Given the description of an element on the screen output the (x, y) to click on. 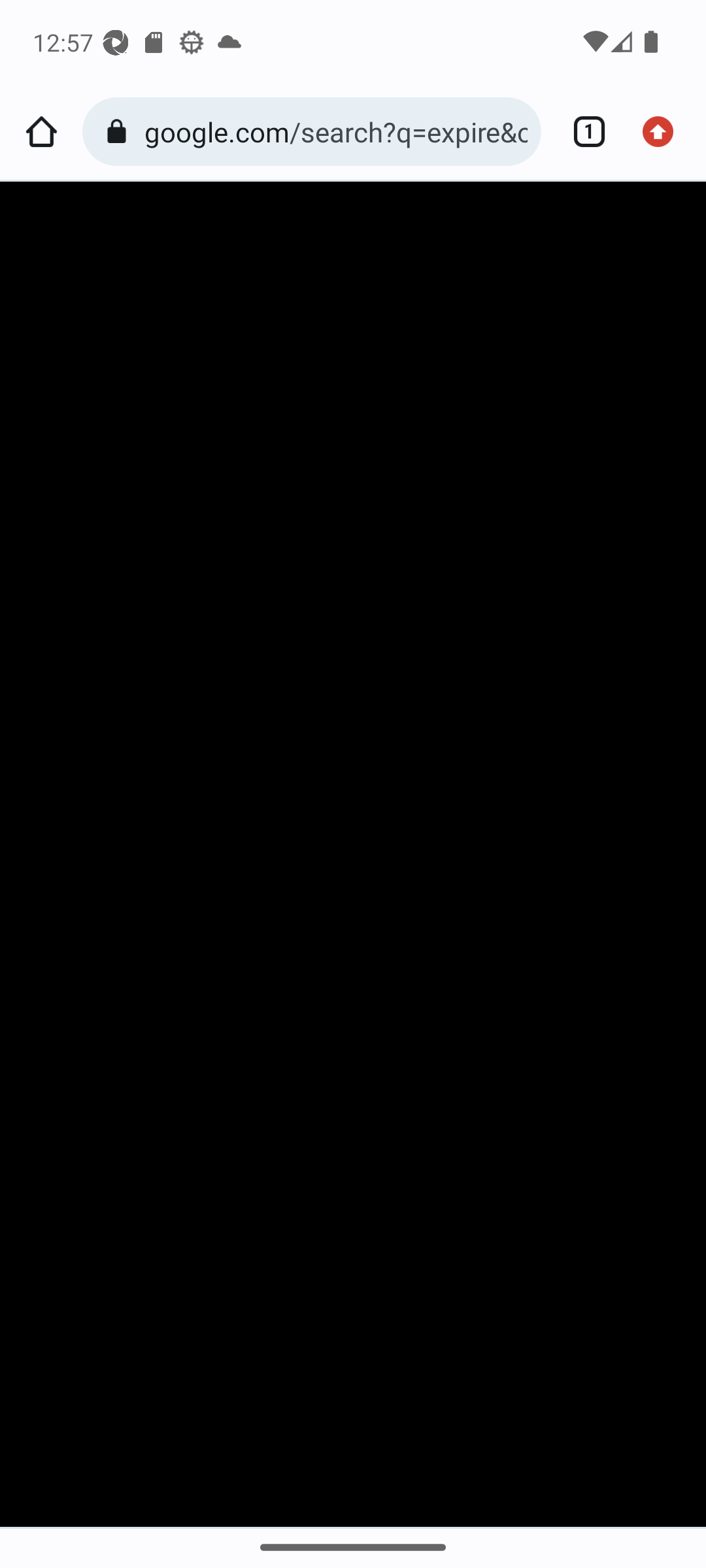
Home (41, 131)
Connection is secure (120, 131)
Switch or close tabs (582, 131)
Update available. More options (664, 131)
